Given the description of an element on the screen output the (x, y) to click on. 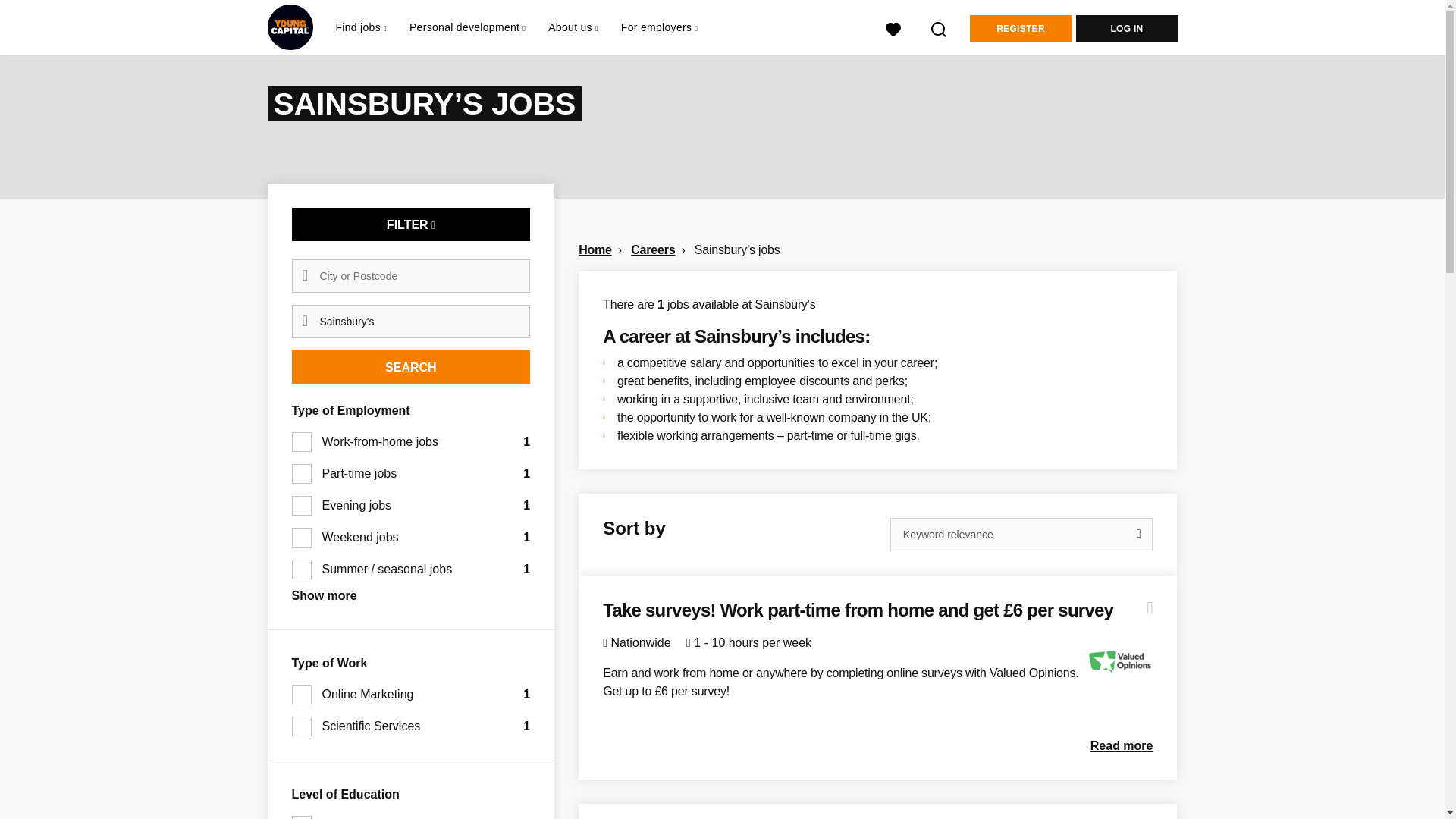
StudentJob UK (289, 26)
Home (594, 249)
Sainsbury's jobs (737, 249)
Sainsbury's (410, 321)
Careers (652, 249)
